Given the description of an element on the screen output the (x, y) to click on. 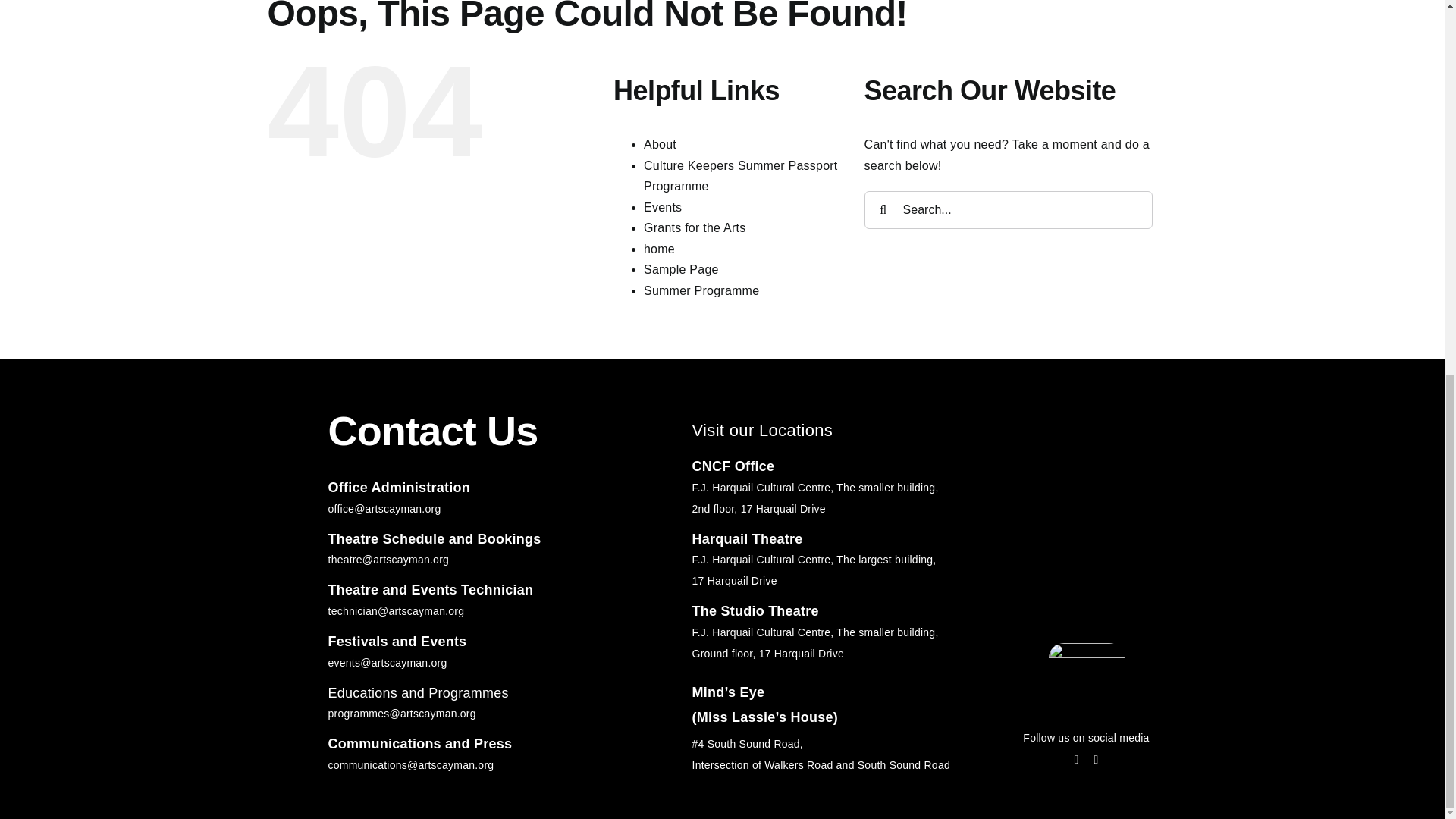
About (660, 144)
Grants for the Arts (694, 227)
Culture Keepers Summer Passport Programme (740, 175)
Events (662, 206)
Summer Programme (700, 290)
home (659, 248)
Sample Page (681, 269)
logofooter (1086, 671)
